Given the description of an element on the screen output the (x, y) to click on. 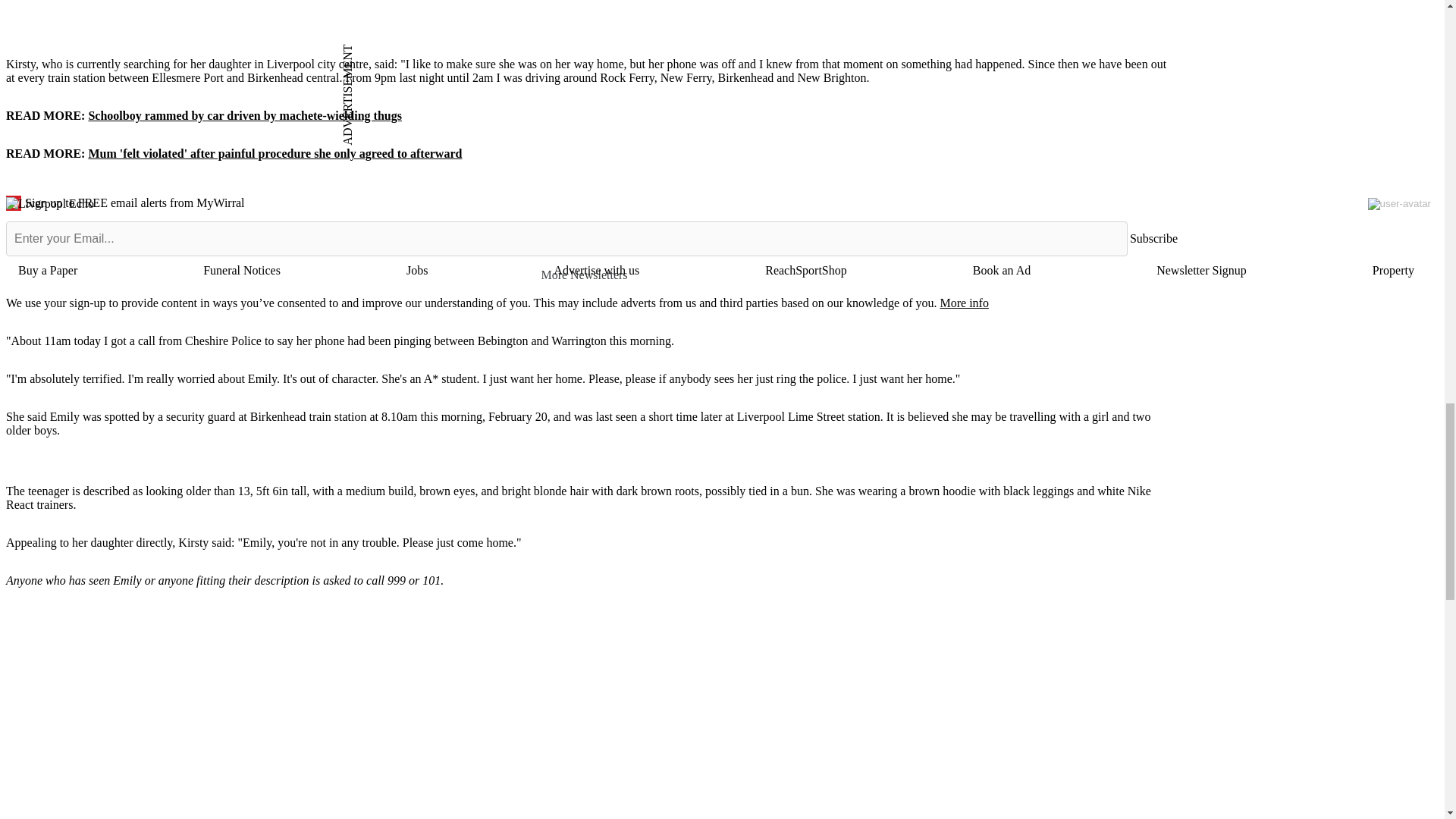
New Brighton (831, 77)
Birkenhead (277, 416)
Liverpool city centre (317, 63)
Warrington (578, 340)
More info (963, 302)
More Newsletters (591, 274)
Subscribe (1153, 238)
Schoolboy rammed by car driven by machete-wielding thugs (244, 115)
